Given the description of an element on the screen output the (x, y) to click on. 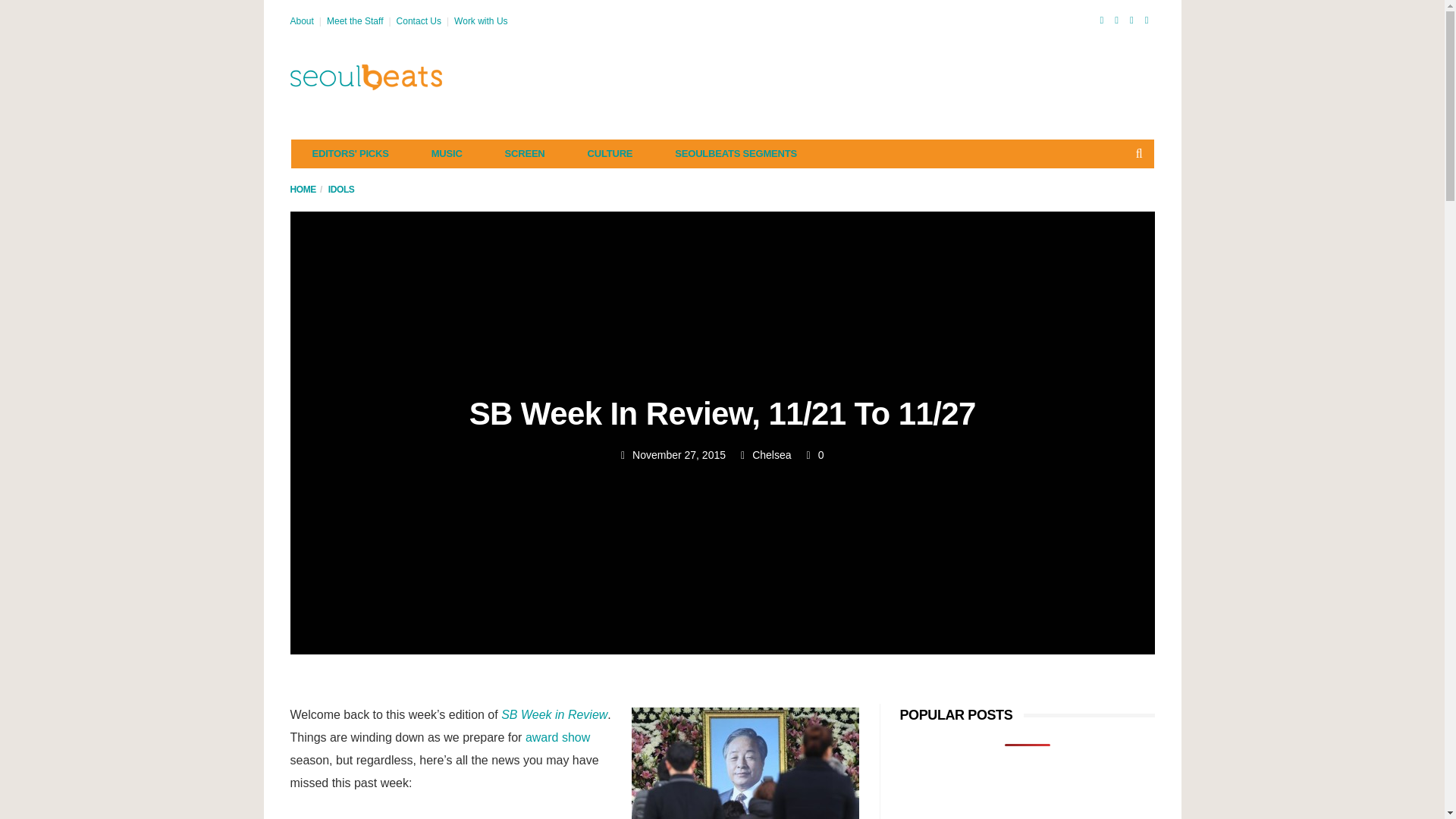
MUSIC (446, 153)
Meet the Staff (355, 20)
Advertisement (878, 77)
Contact Us (418, 20)
About (301, 20)
Work with Us (480, 20)
EDITORS' PICKS (350, 153)
